Given the description of an element on the screen output the (x, y) to click on. 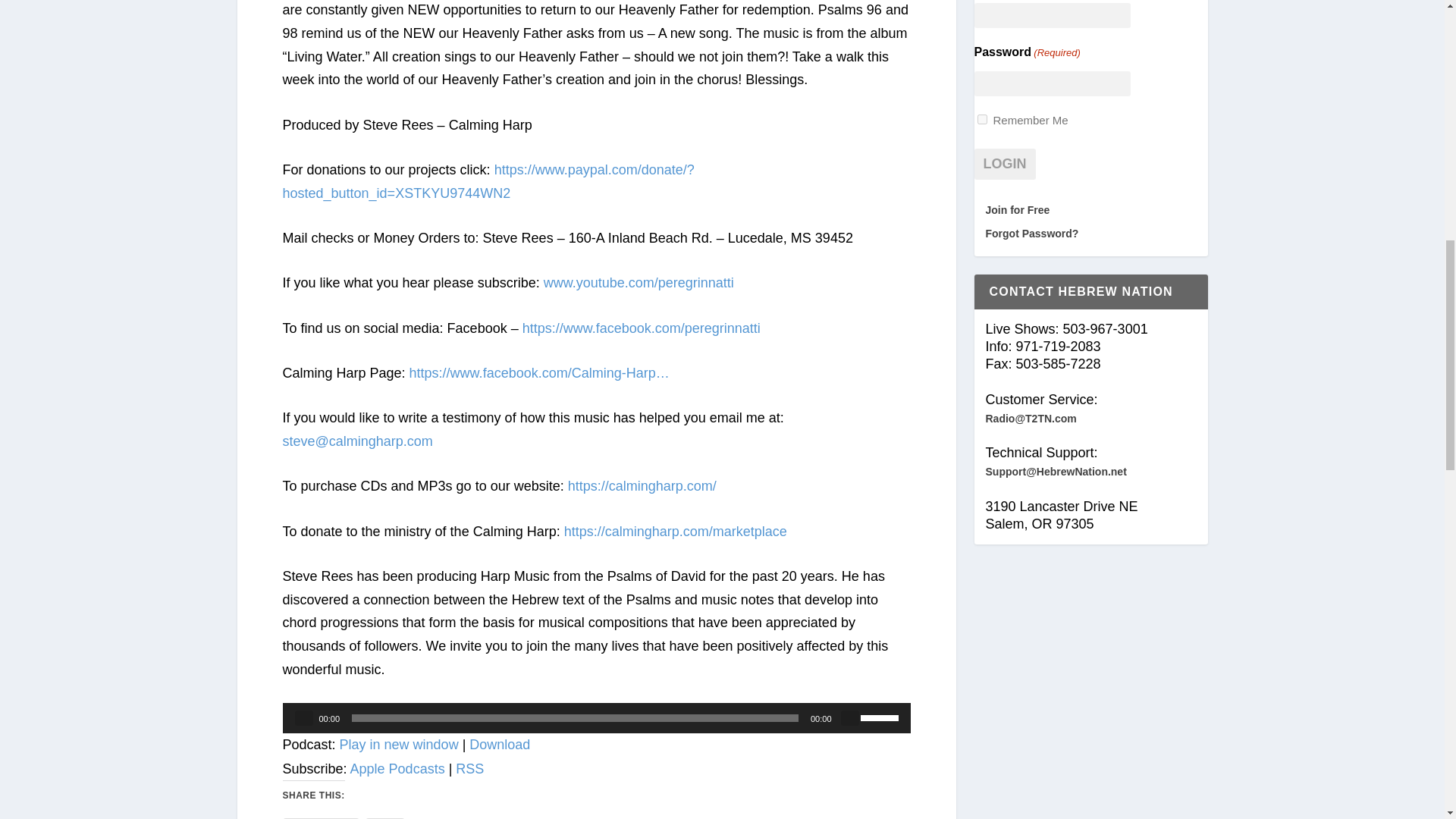
Subscribe via RSS (469, 768)
1 (981, 119)
Login (1004, 163)
Mute (849, 717)
Play in new window (398, 744)
Subscribe on Apple Podcasts (397, 768)
Play (303, 717)
Download (498, 744)
